Given the description of an element on the screen output the (x, y) to click on. 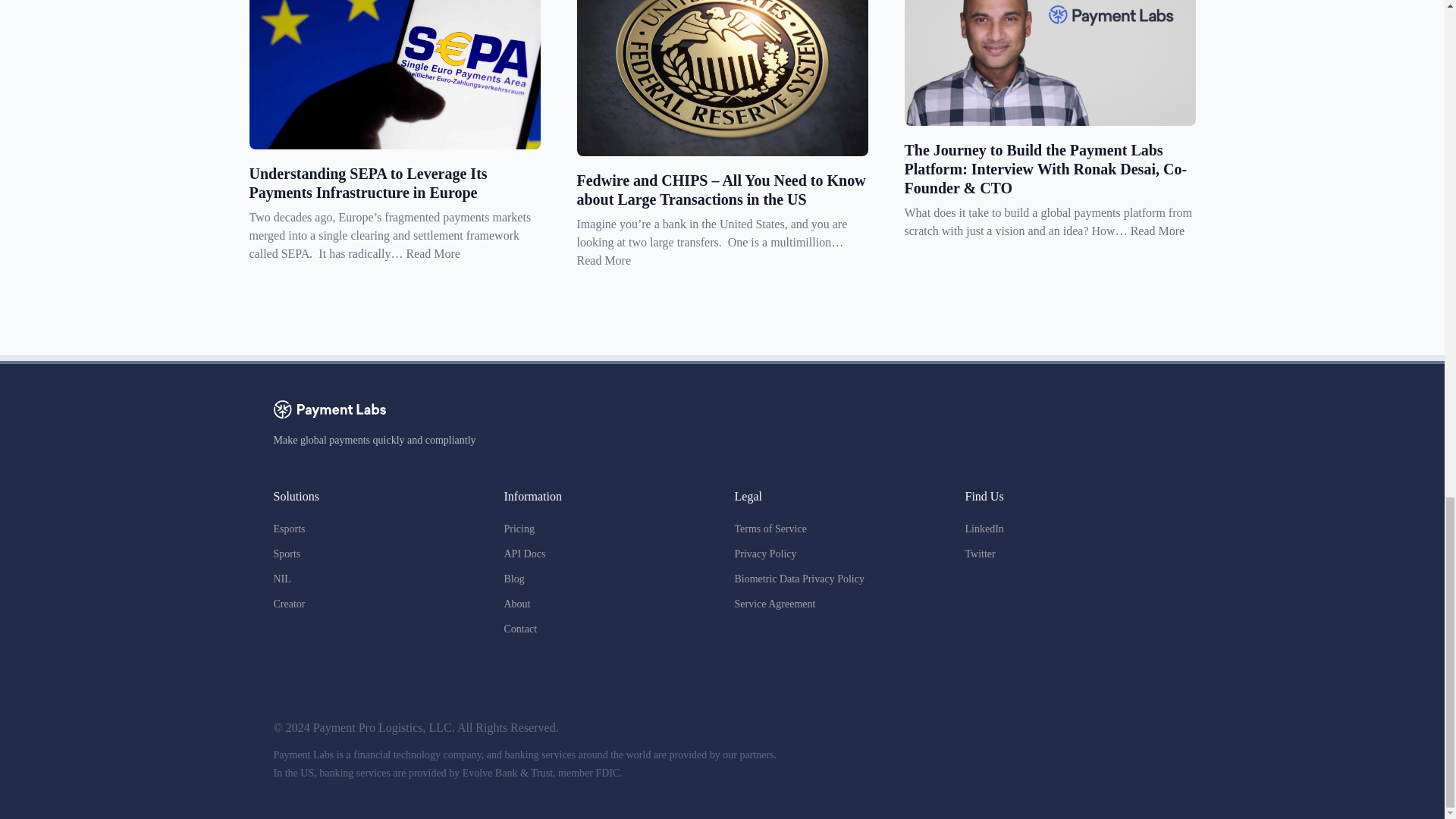
Read More (1158, 230)
Creator (288, 603)
Read More (433, 253)
API Docs (523, 553)
Blog (513, 578)
NIL (281, 578)
Sports (286, 553)
Pricing (518, 528)
Esports (288, 528)
Read More (603, 259)
About (516, 603)
